Given the description of an element on the screen output the (x, y) to click on. 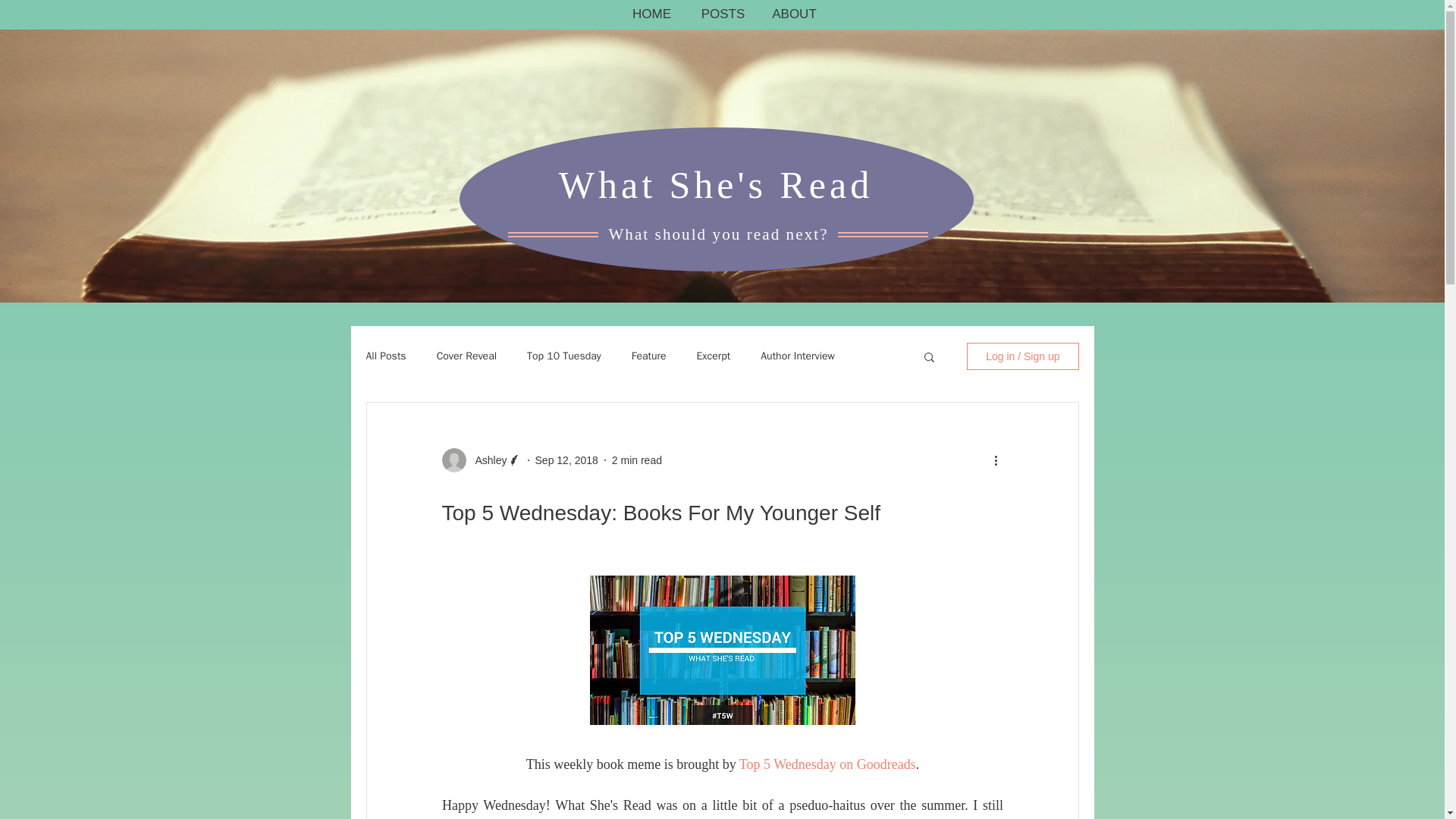
What She's Read (715, 184)
Sep 12, 2018 (566, 459)
HOME (651, 14)
Feature (648, 356)
POSTS (722, 14)
Excerpt (713, 356)
ABOUT (793, 14)
Ashley (485, 459)
2 min read (636, 459)
Cover Reveal (466, 356)
Top 10 Tuesday (564, 356)
Author Interview (797, 356)
All Posts (385, 356)
Top 5 Wednesday on Goodreads (826, 764)
